Given the description of an element on the screen output the (x, y) to click on. 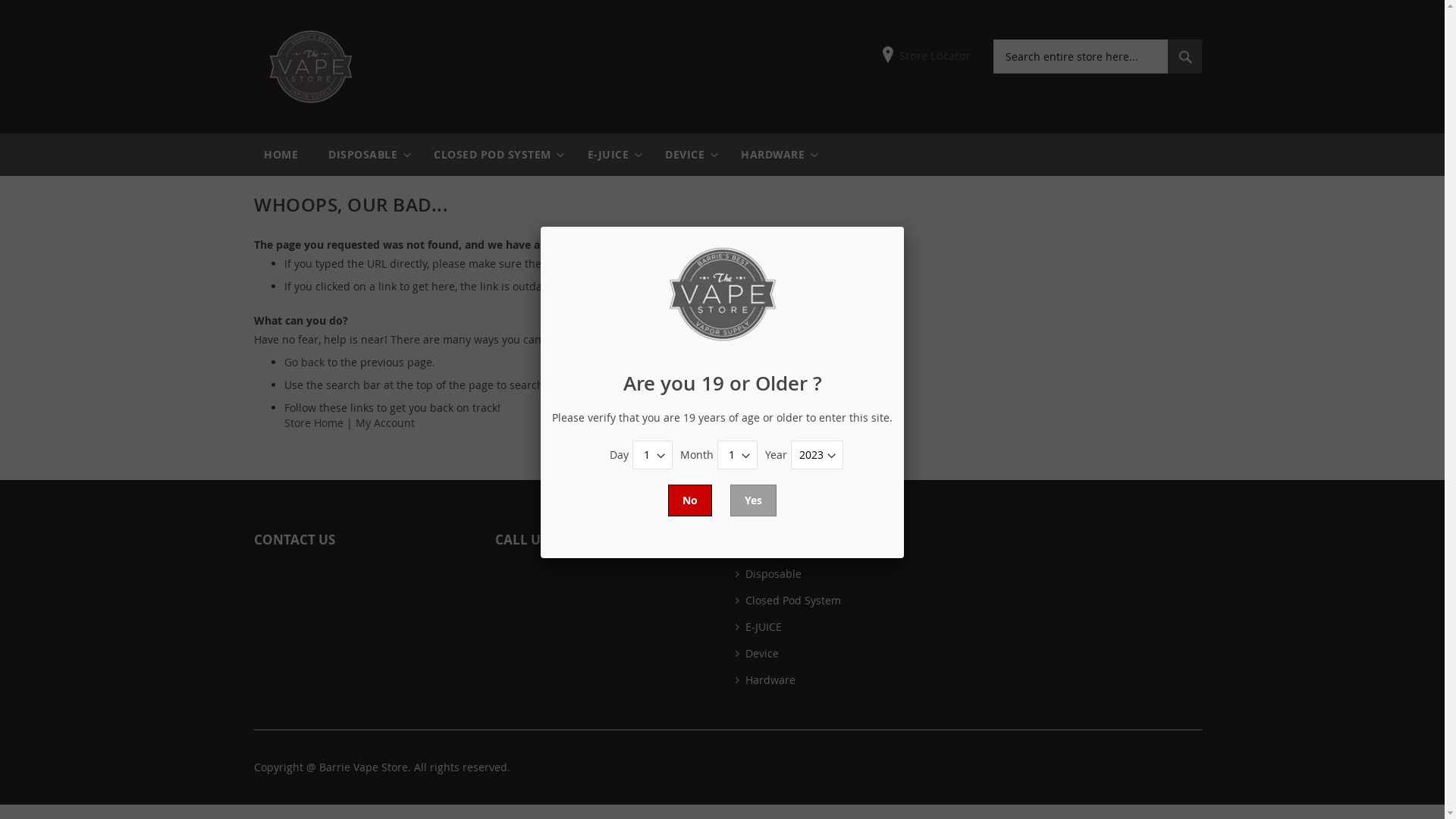
No Element type: text (690, 500)
DEVICE Element type: text (687, 154)
Go back Element type: text (304, 361)
CLOSED POD SYSTEM Element type: text (495, 154)
E-JUICE Element type: text (758, 626)
Hardware Element type: text (765, 679)
Yes Element type: text (753, 500)
Store Locator Element type: text (926, 55)
Search Element type: text (1184, 56)
My Account Element type: text (384, 422)
Closed Pod System Element type: text (787, 600)
Store Home Element type: text (313, 422)
HARDWARE Element type: text (775, 154)
E-JUICE Element type: text (610, 154)
Disposable Element type: text (768, 573)
DISPOSABLE Element type: text (365, 154)
HOME Element type: text (280, 154)
Device Element type: text (756, 653)
